Given the description of an element on the screen output the (x, y) to click on. 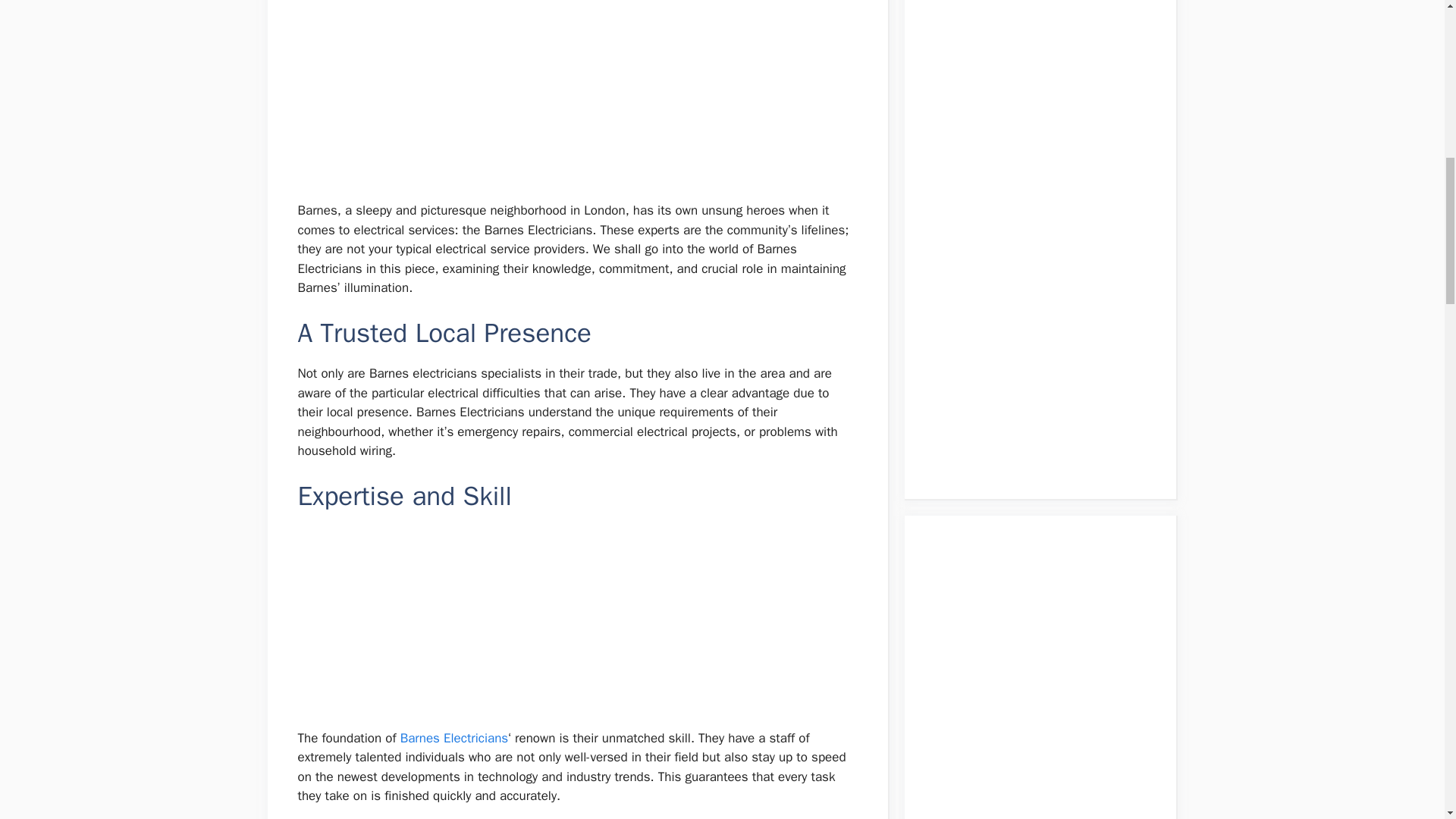
Scroll back to top (1406, 720)
Barnes Electricians (454, 738)
